Given the description of an element on the screen output the (x, y) to click on. 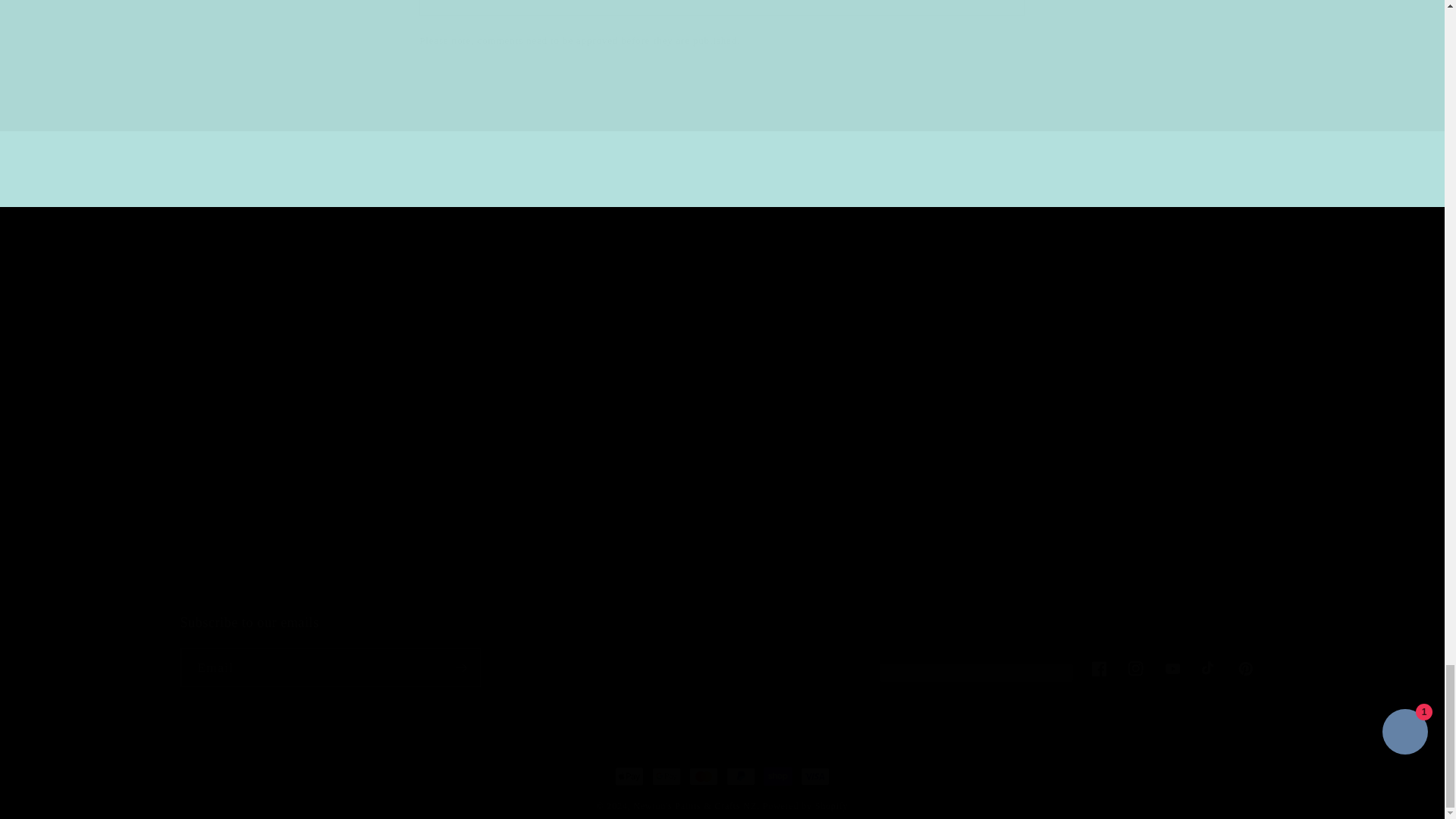
Post comment (484, 93)
